Given the description of an element on the screen output the (x, y) to click on. 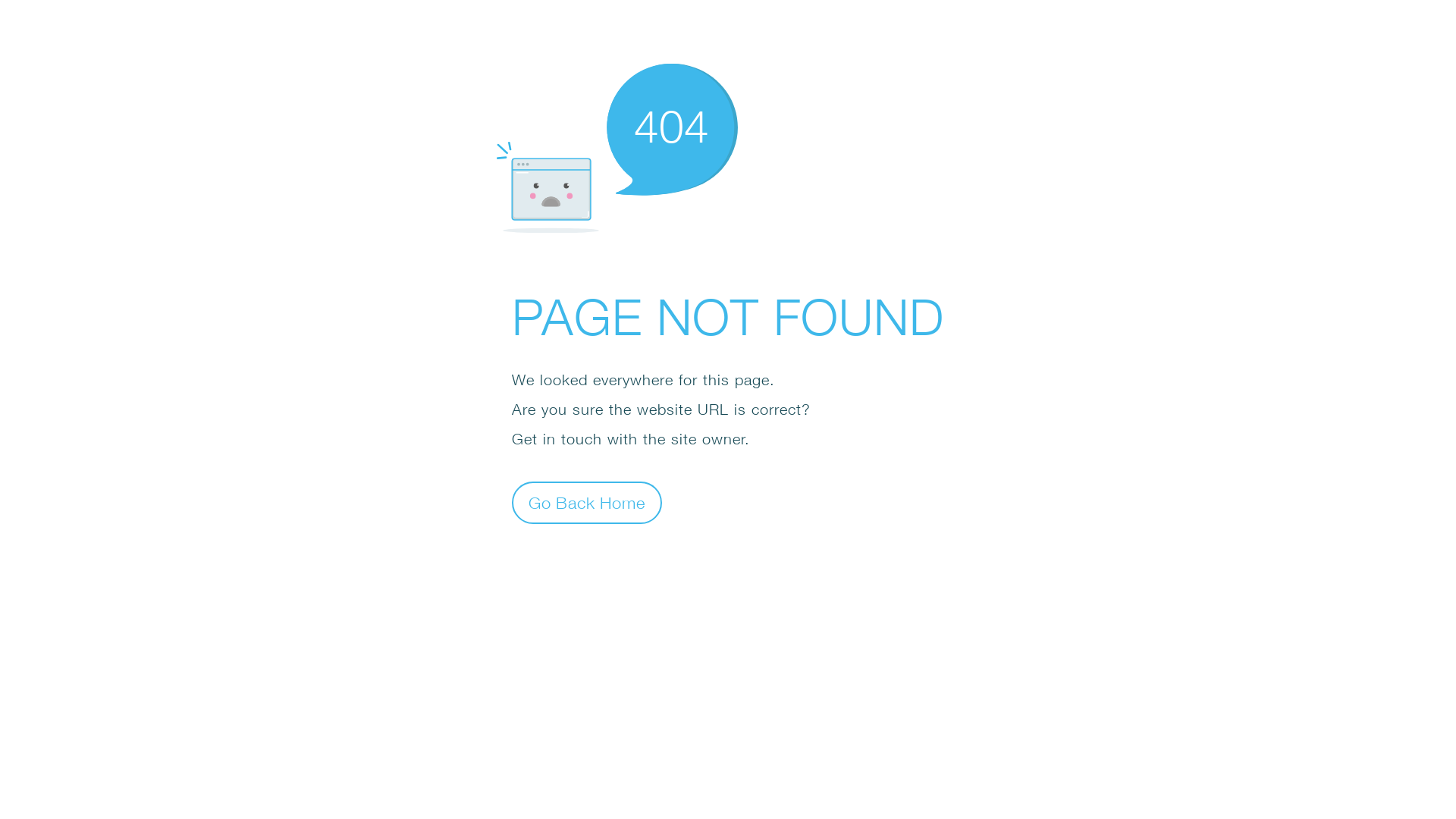
Go Back Home Element type: text (586, 502)
